Given the description of an element on the screen output the (x, y) to click on. 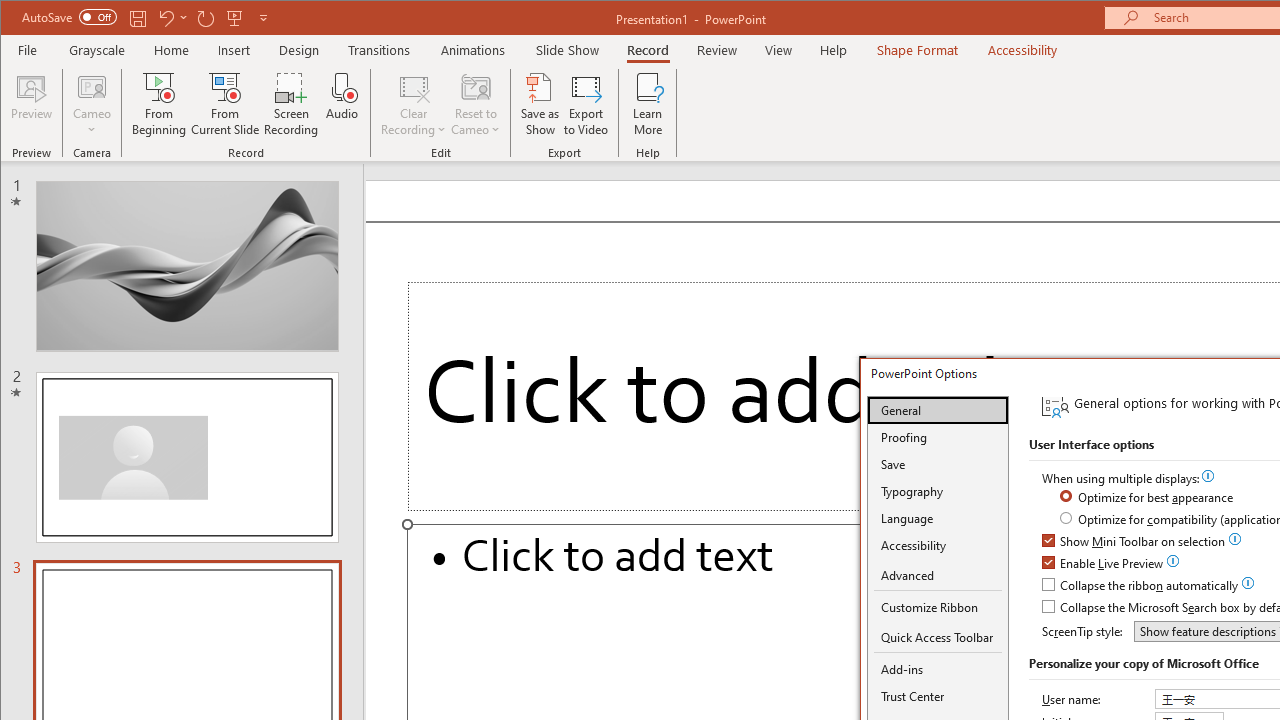
Clear Recording (413, 104)
From Current Slide... (225, 104)
Language (937, 518)
Customize Ribbon (937, 607)
Save as Show (539, 104)
Grayscale (97, 50)
Collapse the ribbon automatically (1141, 586)
